Given the description of an element on the screen output the (x, y) to click on. 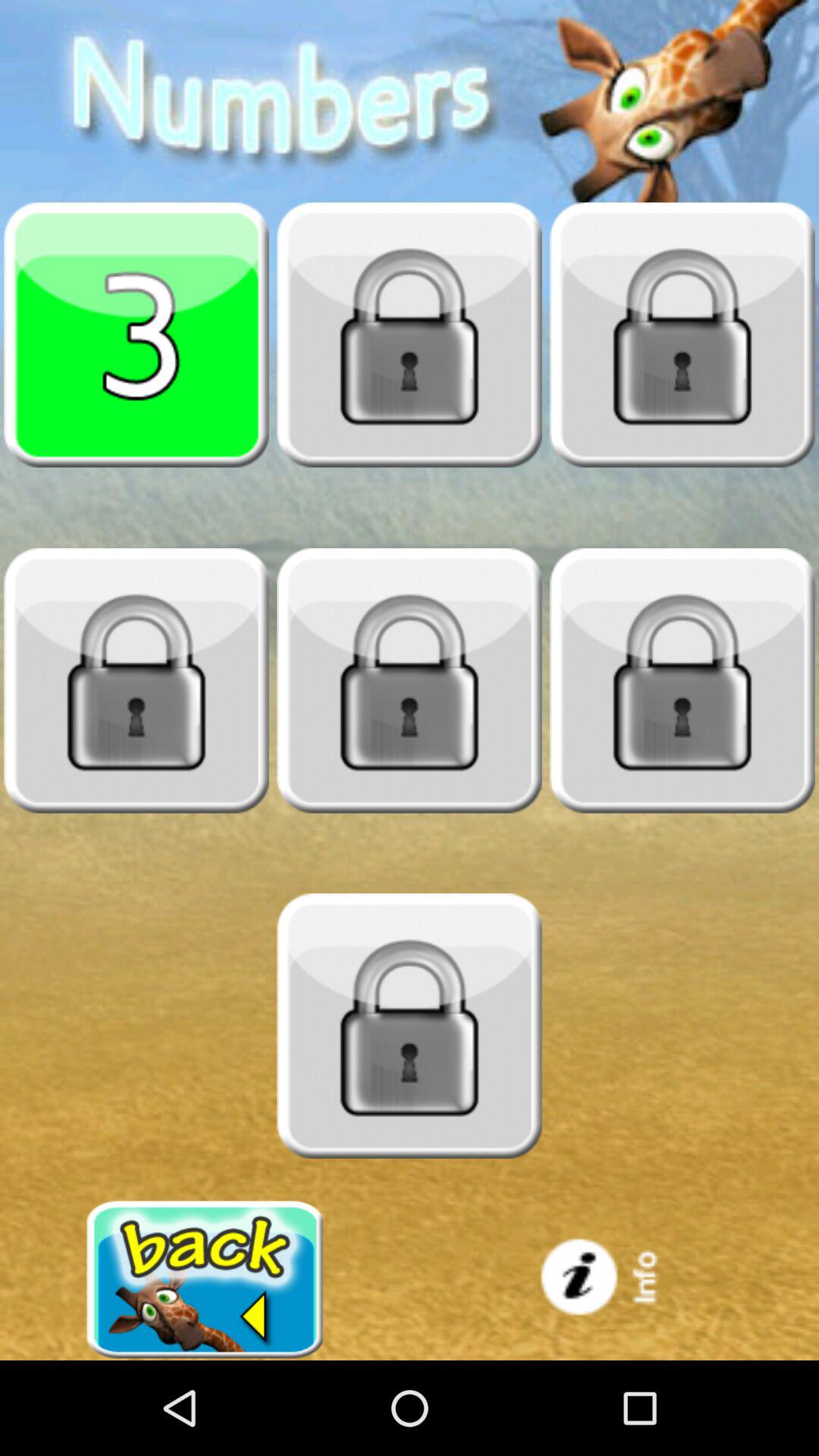
unlock item (409, 1025)
